Given the description of an element on the screen output the (x, y) to click on. 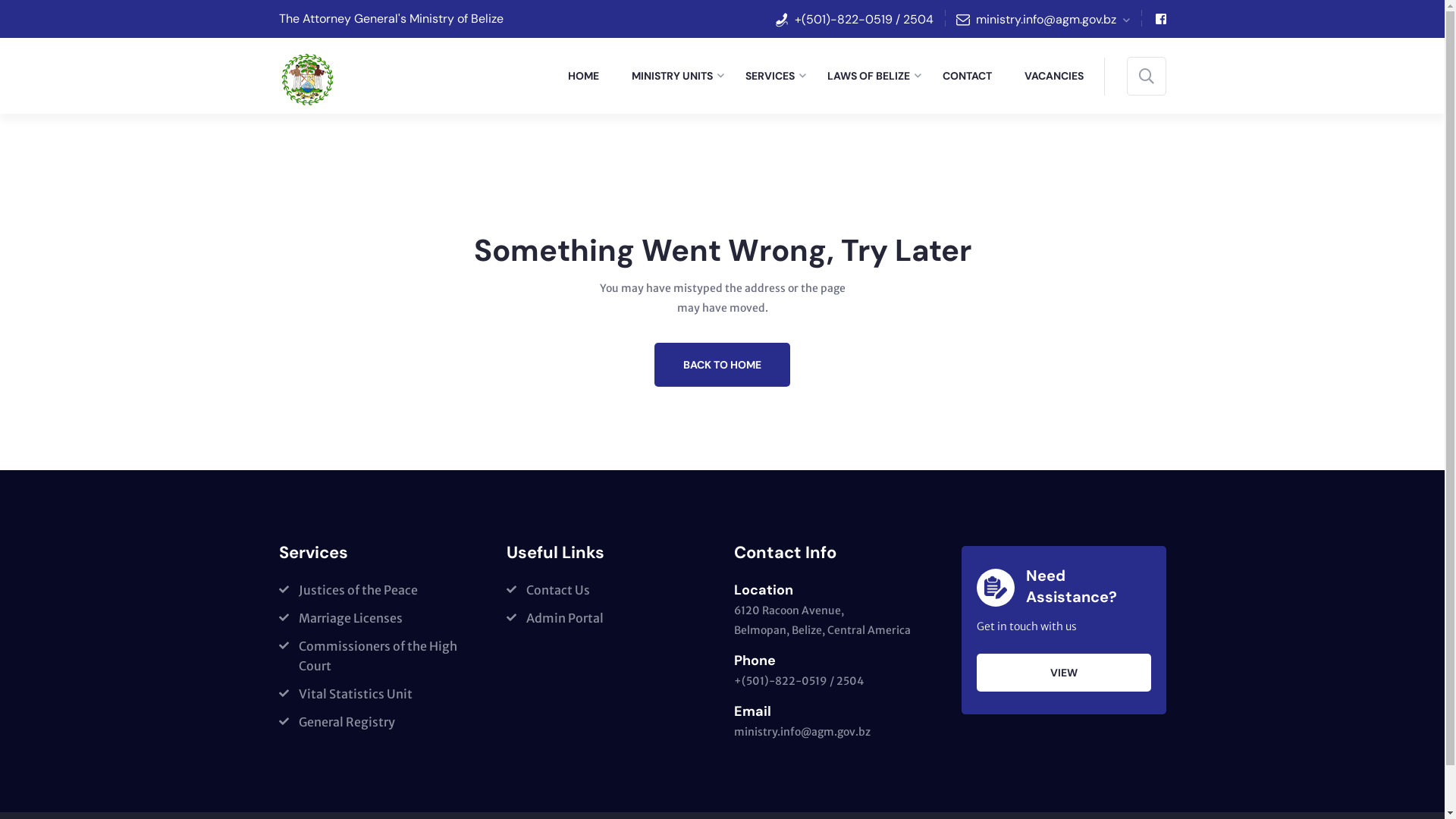
Admin Portal Element type: text (554, 617)
ministry.info@agm.gov.bz Element type: text (802, 731)
LAWS OF BELIZE Element type: text (873, 75)
SERVICES Element type: text (774, 75)
Vital Statistics Unit Element type: text (345, 693)
ministry.info@agm.gov.bz Element type: text (1052, 18)
CONTACT Element type: text (971, 75)
+(501)-822-0519 / 2504 Element type: text (863, 18)
MINISTRY UNITS Element type: text (676, 75)
VACANCIES Element type: text (1058, 75)
BACK TO HOME Element type: text (722, 364)
General Registry Element type: text (337, 721)
Marriage Licenses Element type: text (340, 617)
+(501)-822-0519 / 2504 Element type: text (798, 680)
Justices of the Peace Element type: text (348, 589)
The Attorney General's Ministry of Belize Element type: text (391, 18)
Commissioners of the High Court Element type: text (381, 655)
HOME Element type: text (588, 75)
Contact Us Element type: text (547, 589)
VIEW Element type: text (1063, 672)
